Given the description of an element on the screen output the (x, y) to click on. 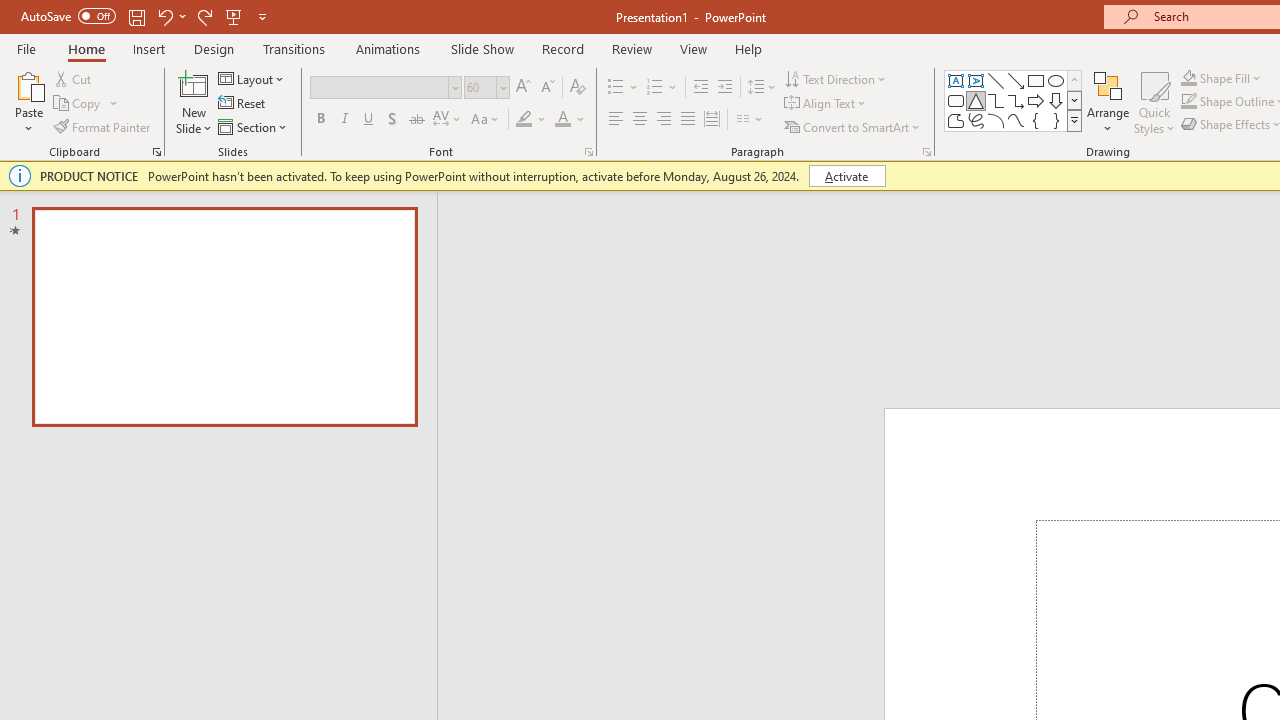
Layout (252, 78)
Arc (995, 120)
Vertical Text Box (975, 80)
Cut (73, 78)
Convert to SmartArt (853, 126)
Arrow: Down (1055, 100)
Activate (846, 175)
Connector: Elbow (995, 100)
